Given the description of an element on the screen output the (x, y) to click on. 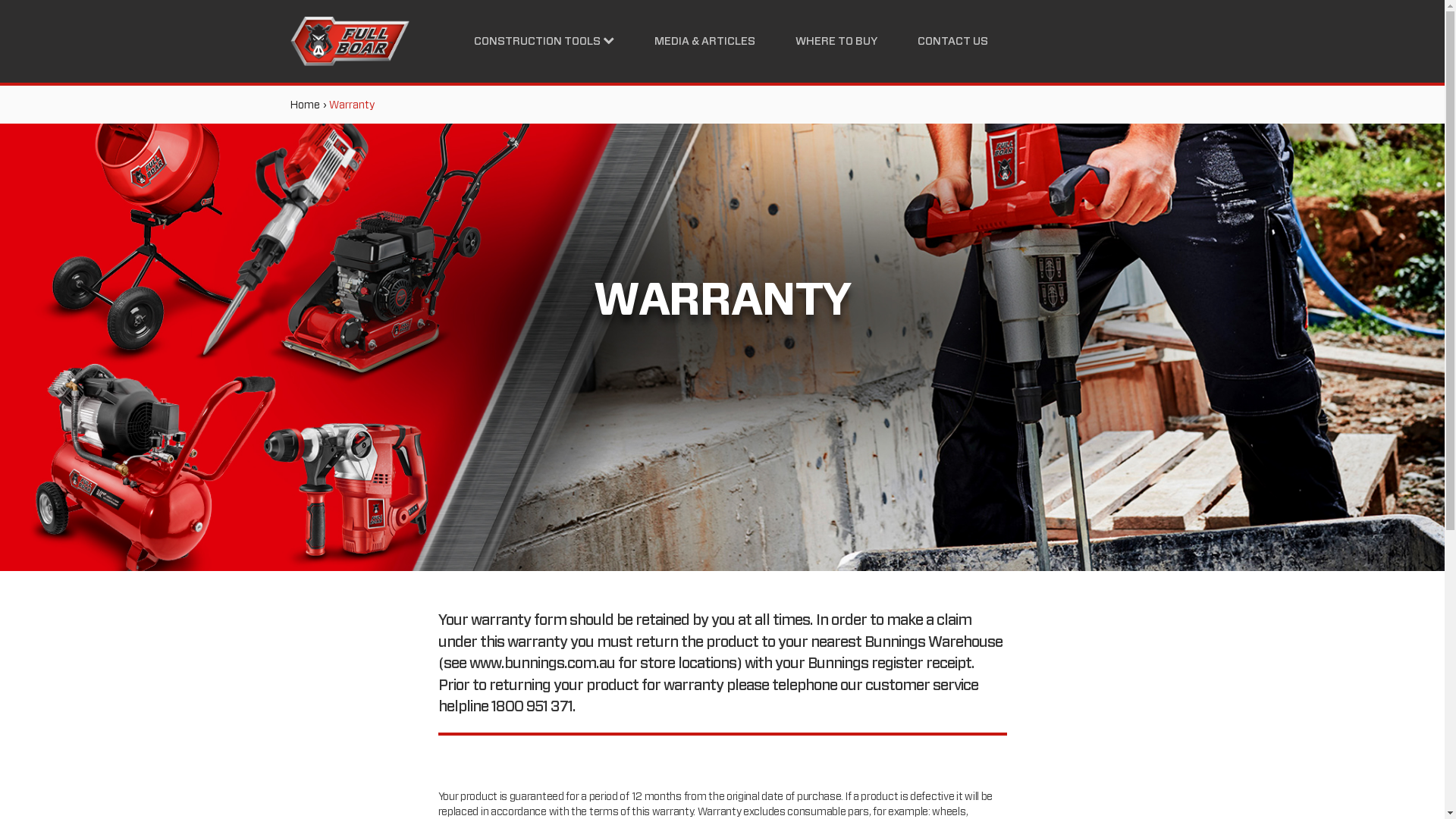
WHERE TO BUY Element type: text (836, 41)
MEDIA & ARTICLES Element type: text (704, 41)
CONTACT US Element type: text (952, 41)
CONSTRUCTION TOOLS Element type: text (543, 41)
Home Element type: text (304, 104)
